Given the description of an element on the screen output the (x, y) to click on. 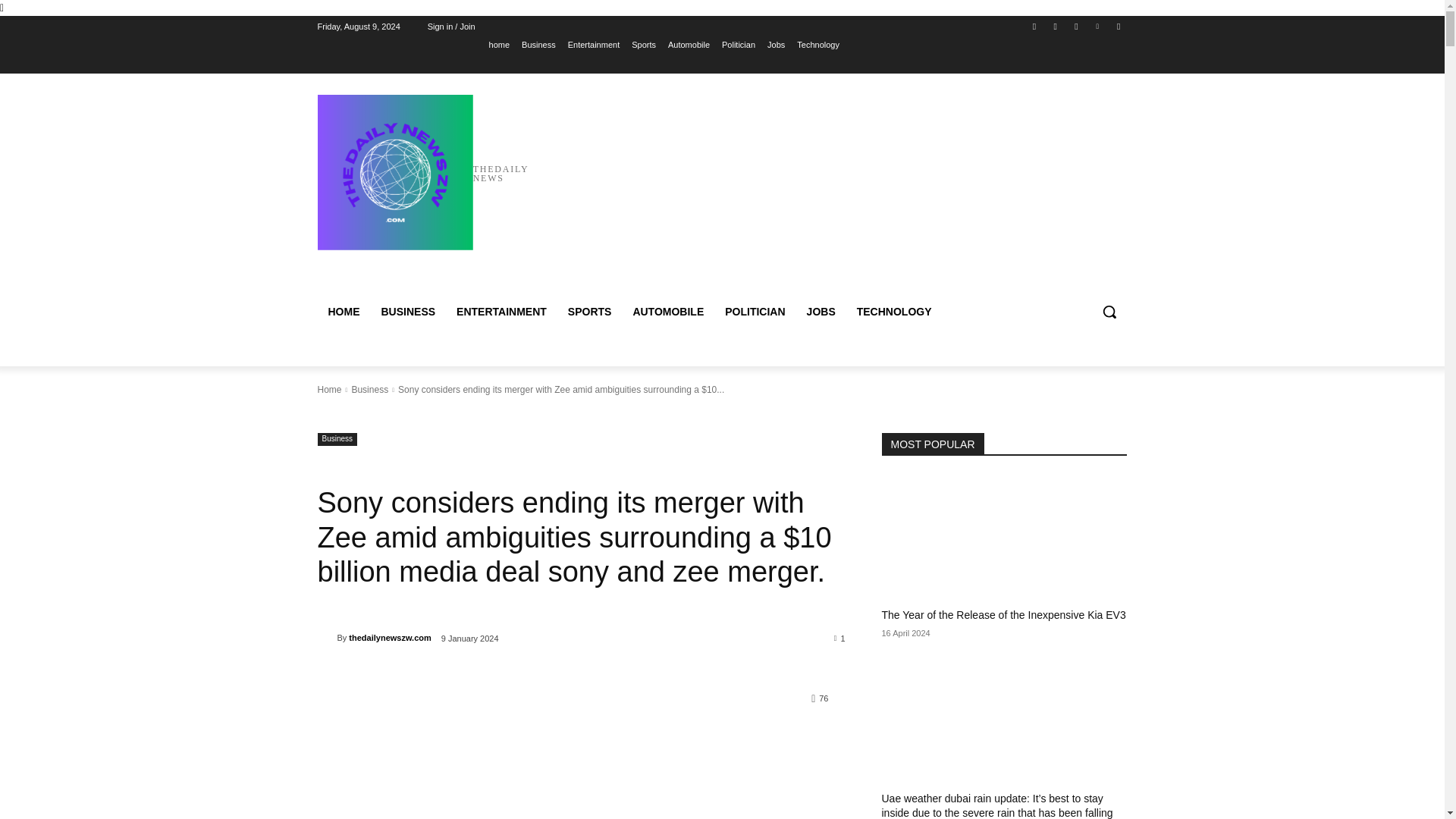
Entertainment (593, 44)
THEDAILY NEWS (425, 172)
ENTERTAINMENT (501, 311)
Twitter (1075, 27)
JOBS (820, 311)
Home (328, 389)
thedailynewszw.com (326, 637)
Youtube (1117, 27)
Vimeo (1097, 27)
Instagram (1055, 27)
